Given the description of an element on the screen output the (x, y) to click on. 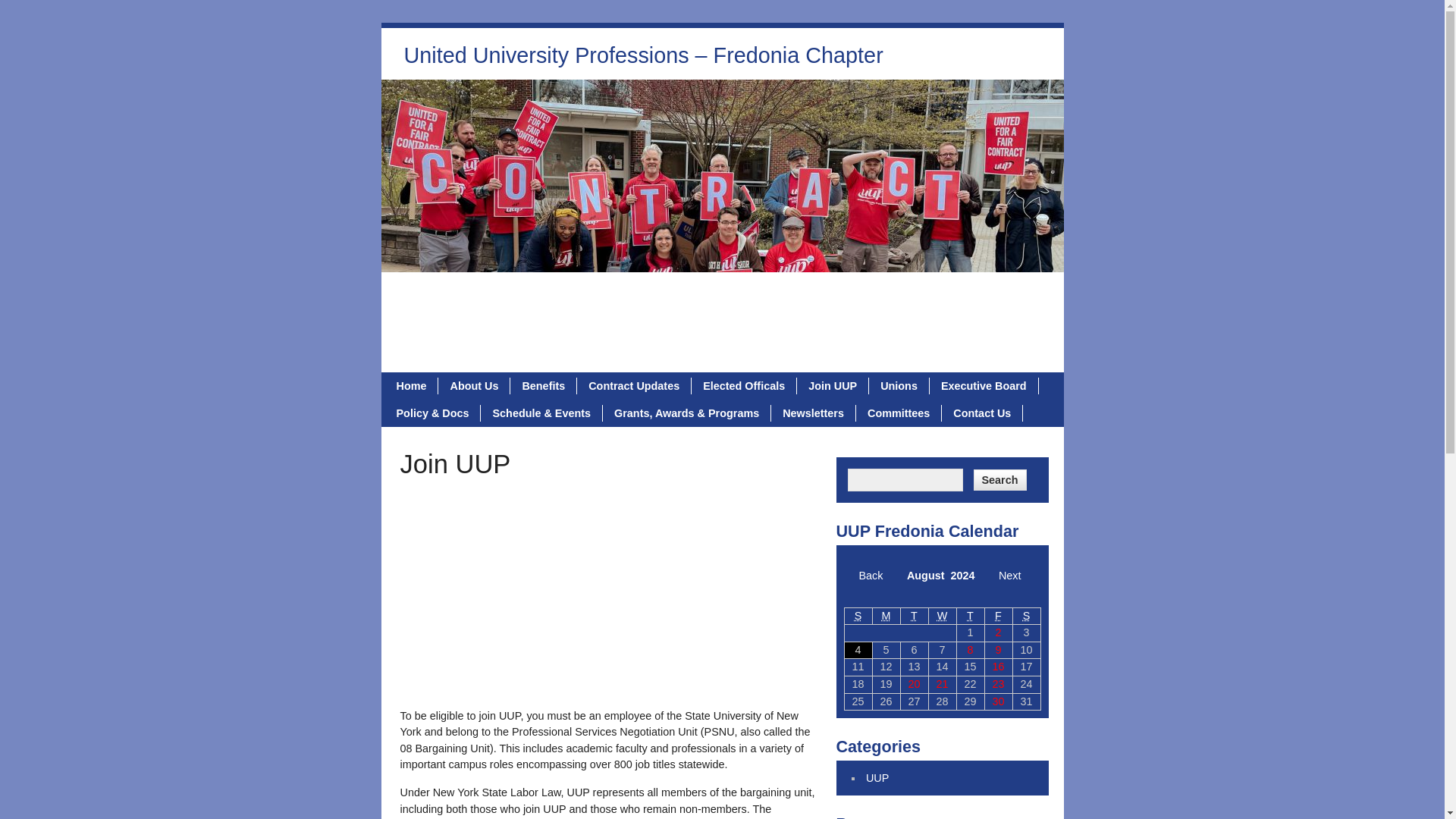
Next (1010, 575)
Join UUP (832, 385)
Contract Updates (633, 385)
UUP (877, 777)
Committees (899, 412)
Contact Us (982, 412)
Search (1000, 479)
About Us (474, 385)
Executive Board (984, 385)
Newsletters (813, 412)
